Given the description of an element on the screen output the (x, y) to click on. 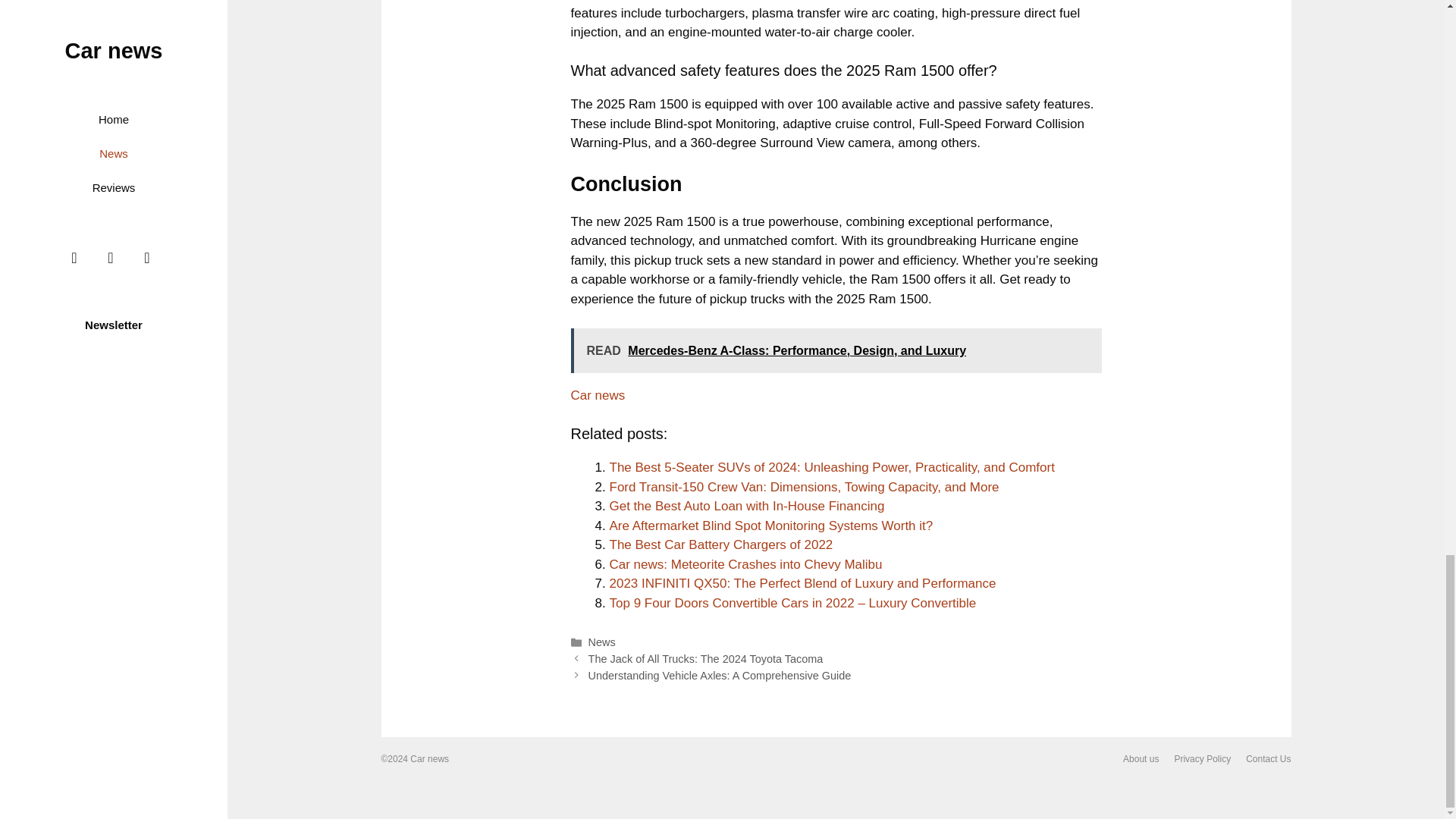
Car news (597, 395)
News (601, 642)
READ  Mercedes-Benz A-Class: Performance, Design, and Luxury (835, 350)
Car news: Meteorite Crashes into Chevy Malibu (746, 564)
Are Aftermarket Blind Spot Monitoring Systems Worth it? (771, 525)
Get the Best Auto Loan with In-House Financing (747, 505)
The Best Car Battery Chargers of 2022 (721, 544)
